Given the description of an element on the screen output the (x, y) to click on. 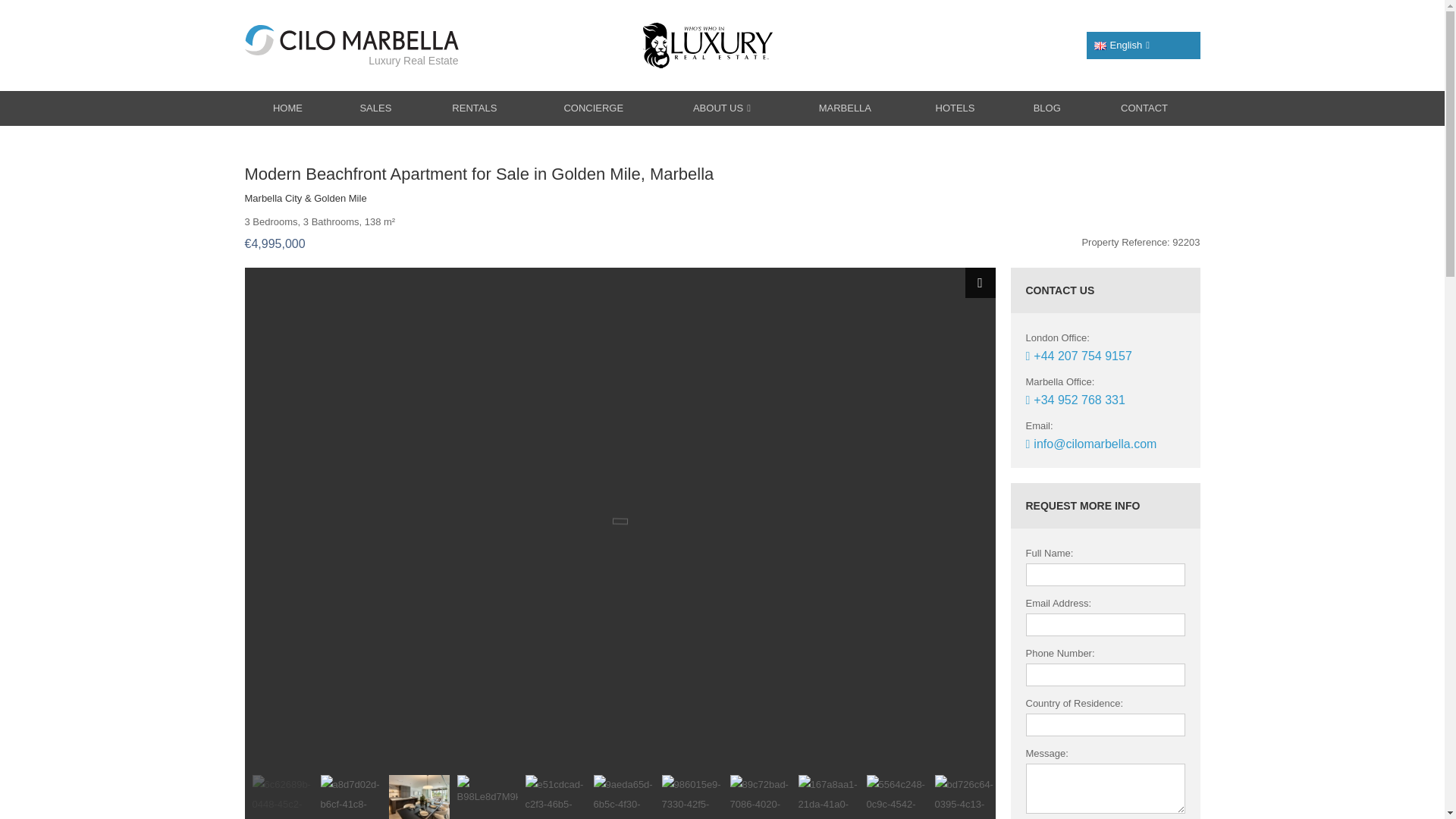
BLOG (1047, 108)
HOME (287, 108)
MARBELLA (845, 108)
Cilo  Marbella (351, 45)
RENTALS (474, 108)
ABOUT US (721, 108)
HOTELS (955, 108)
CONCIERGE (593, 108)
Luxury Real Estate (351, 45)
English (1099, 45)
